Given the description of an element on the screen output the (x, y) to click on. 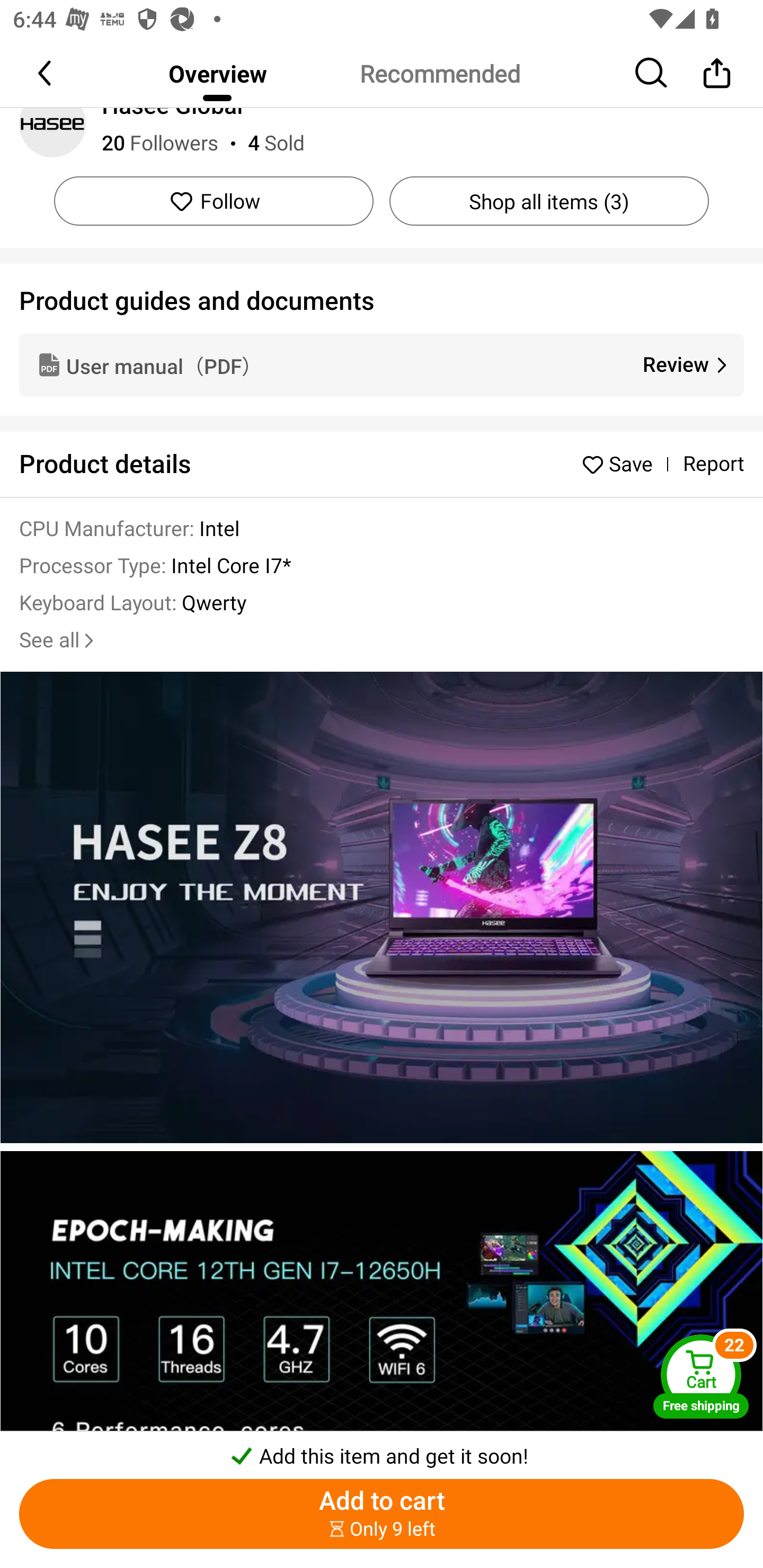
Overview (217, 72)
Recommended (439, 72)
Back (46, 72)
Share (716, 72)
  Follow (213, 200)
Shop all items (3) (548, 200)
User manual（PDF） Review (381, 364)
Report (712, 464)
 Save (621, 463)
See all  (58, 640)
Cart Free shipping Cart (701, 1375)
￼￼Add this item and get it soon!  (381, 1450)
Add to cart ￼￼Only 9 left (381, 1513)
